Given the description of an element on the screen output the (x, y) to click on. 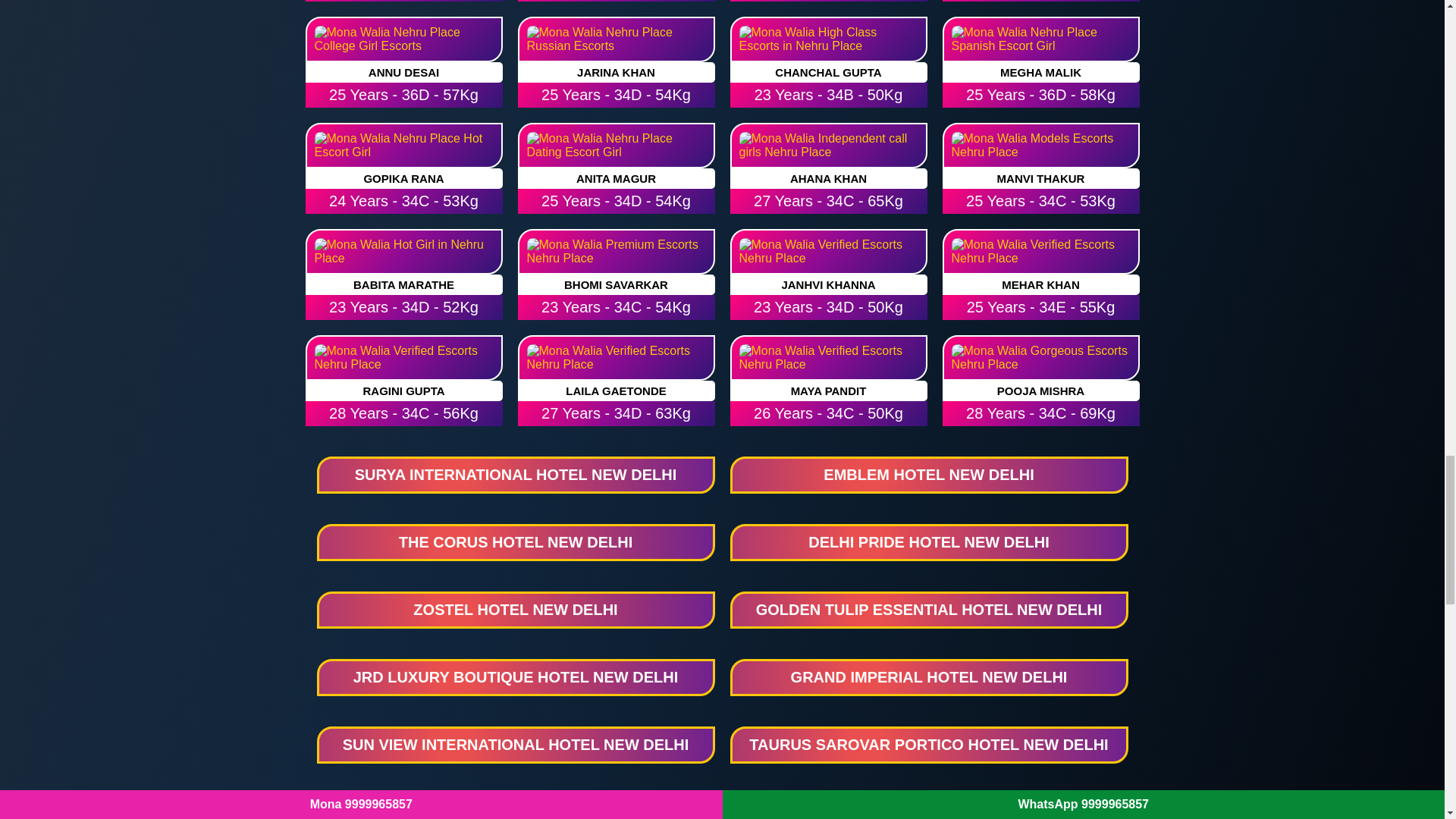
Nehru Place Russian Escorts (615, 39)
Nehru Place Dating Escort Girl (615, 145)
Independent call girls Nehru Place (827, 145)
Nehru Place College Girl Escorts (403, 39)
High Class Escorts in Nehru Place (827, 39)
Nehru Place Hot Escort Girl (403, 145)
Nehru Place Spanish Escort Girl (1040, 39)
